Given the description of an element on the screen output the (x, y) to click on. 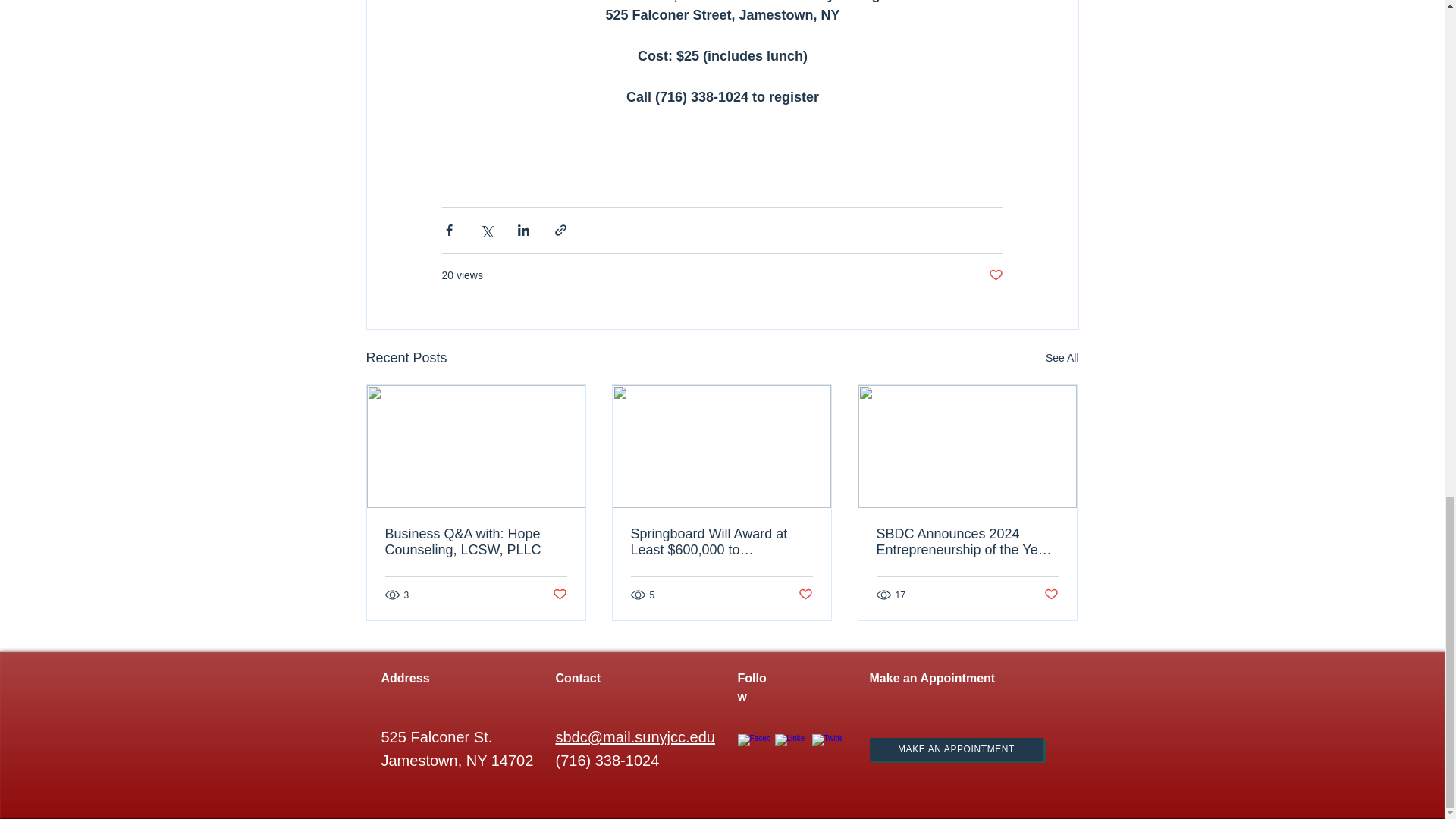
Post not marked as liked (1050, 594)
Post not marked as liked (804, 594)
Post not marked as liked (995, 275)
MAKE AN APPOINTMENT (955, 748)
Post not marked as liked (558, 594)
See All (1061, 358)
